Given the description of an element on the screen output the (x, y) to click on. 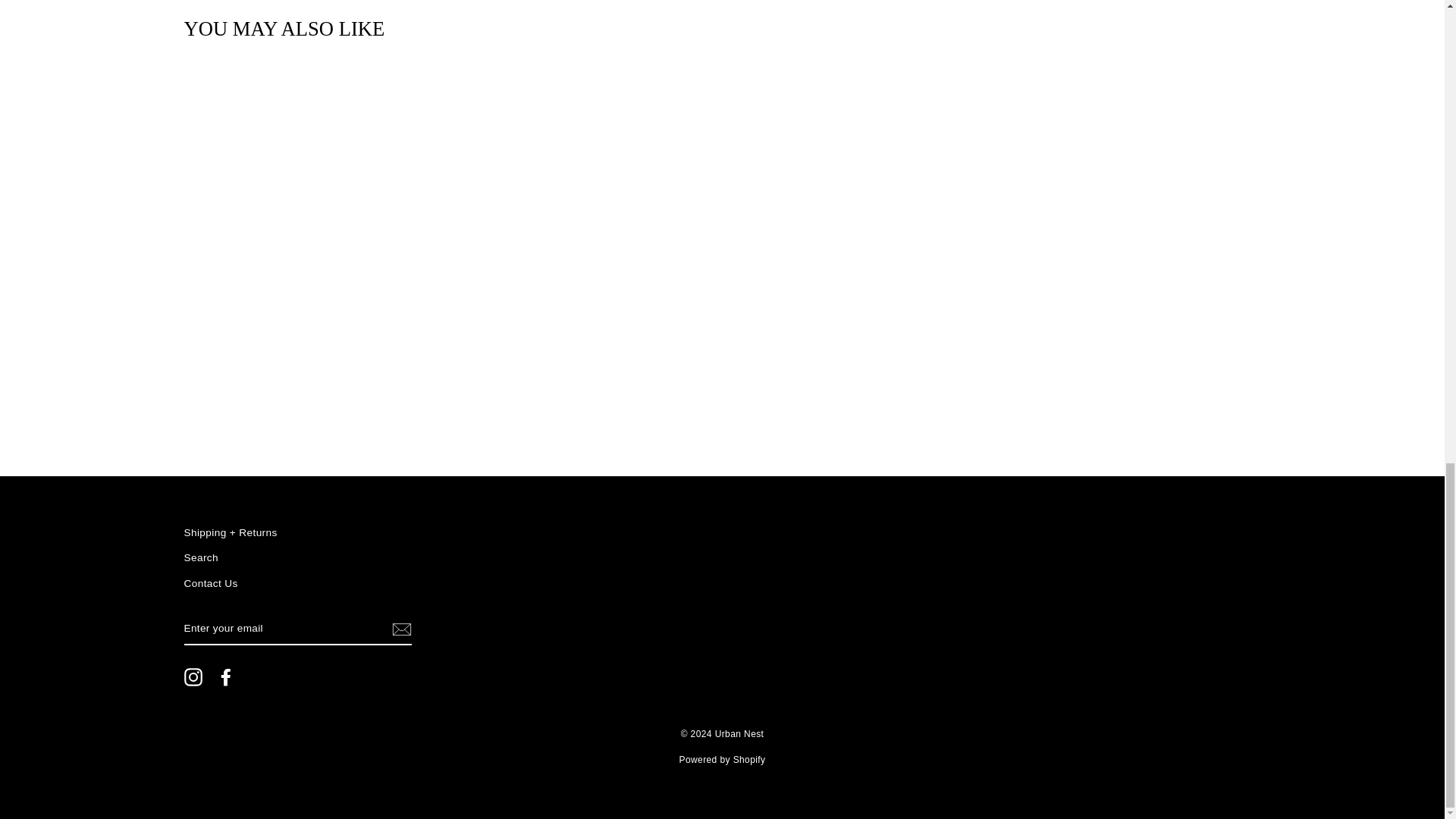
Urban Nest on Instagram (192, 677)
Urban Nest on Facebook (225, 677)
